Given the description of an element on the screen output the (x, y) to click on. 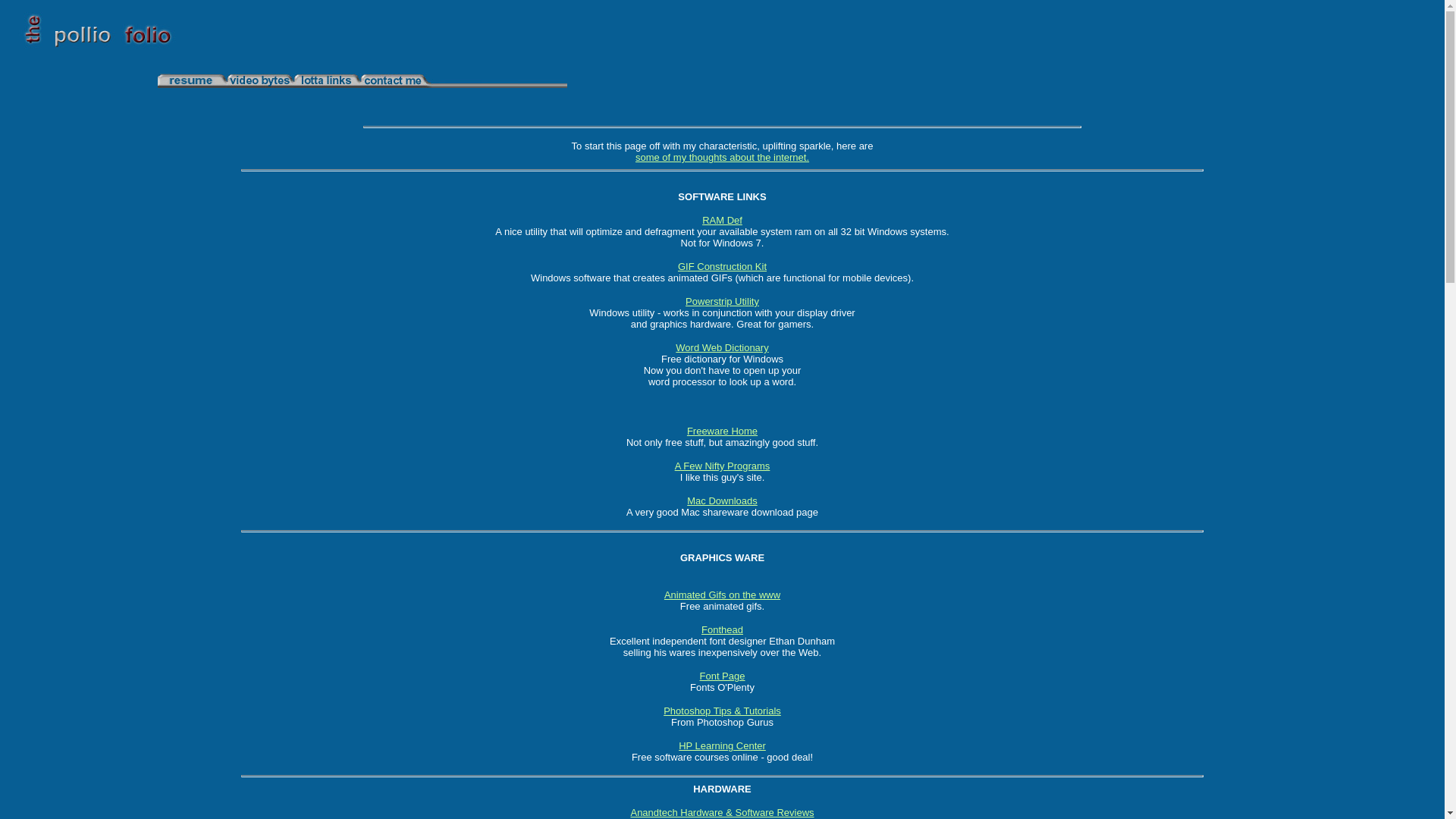
GIF Construction Kit Element type: text (721, 266)
Word Web Dictionary Element type: text (721, 347)
some of my thoughts about the internet. Element type: text (722, 157)
RAM Def Element type: text (722, 219)
Anandtech Hardware & Software Reviews Element type: text (721, 812)
HP Learning Center Element type: text (721, 745)
Animated Gifs on the www Element type: text (722, 594)
Mac Downloads Element type: text (722, 500)
Font Page Element type: text (721, 675)
Freeware Home Element type: text (722, 430)
Powerstrip Utility Element type: text (722, 301)
Fonthead Element type: text (722, 629)
Photoshop Tips & Tutorials Element type: text (722, 710)
A Few Nifty Programs Element type: text (722, 464)
